Given the description of an element on the screen output the (x, y) to click on. 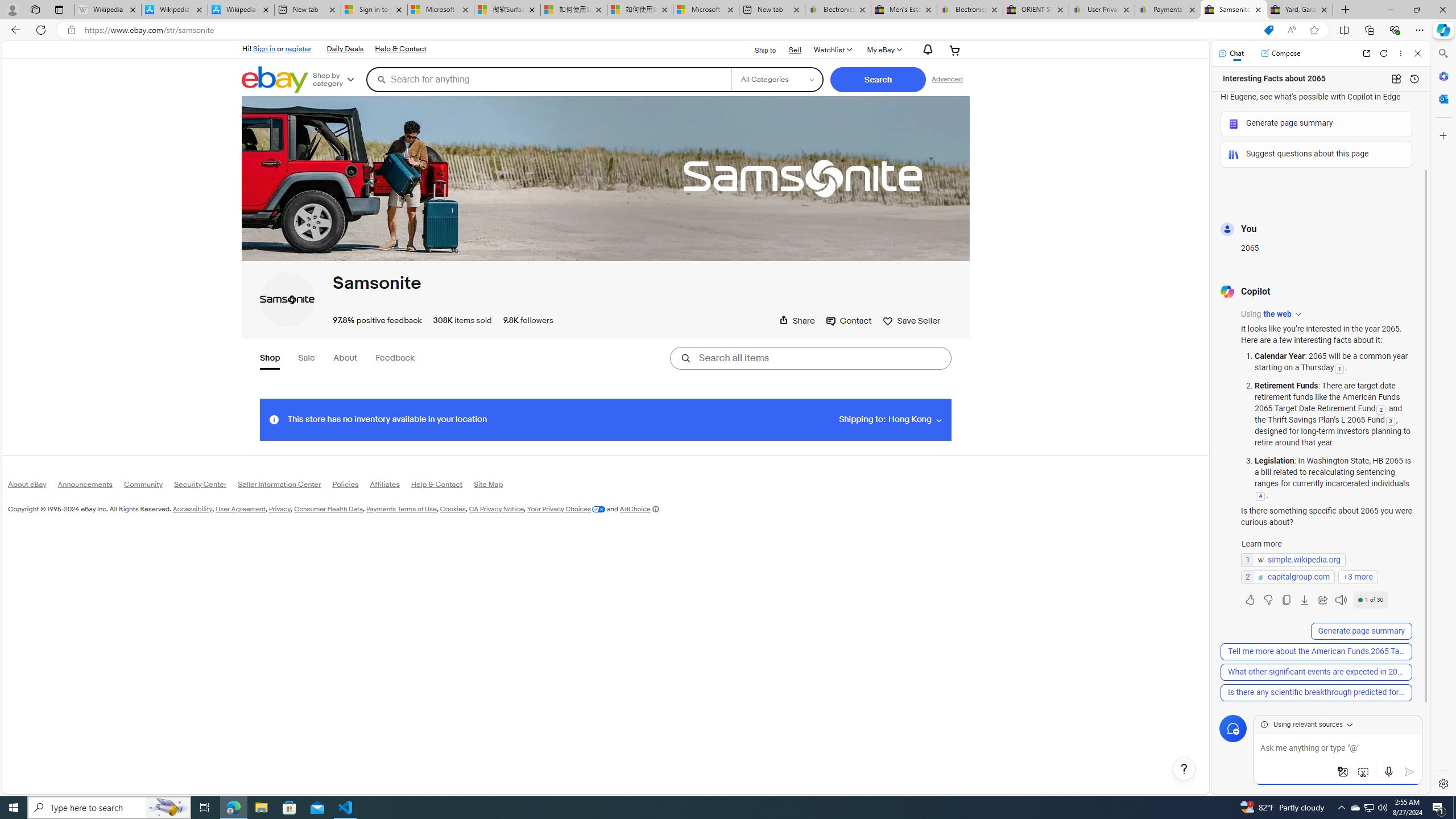
User Agreement (240, 508)
Sell (794, 49)
Help & Contact (442, 486)
My eBay (883, 49)
Consumer Health Data (329, 508)
Security Center (206, 486)
User Privacy Notice | eBay (1102, 9)
This site has coupons! Shopping in Microsoft Edge (1268, 29)
About eBay (32, 486)
AdChoice (638, 508)
Affiliates (389, 486)
Shop by category (337, 79)
